Given the description of an element on the screen output the (x, y) to click on. 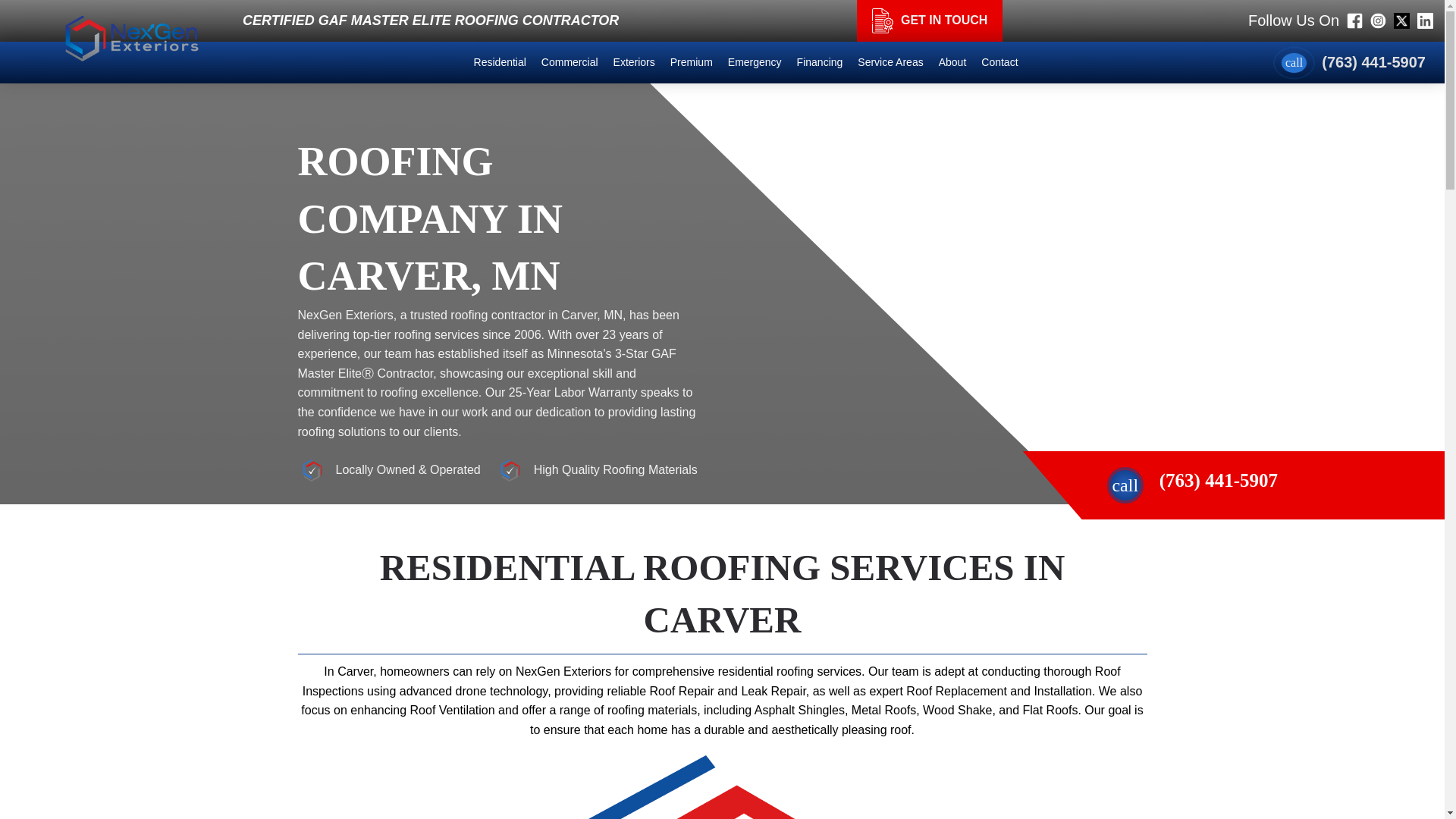
Exteriors (633, 62)
Commercial (569, 62)
Residential (499, 62)
GET IN TOUCH (930, 20)
Submit (721, 624)
